Given the description of an element on the screen output the (x, y) to click on. 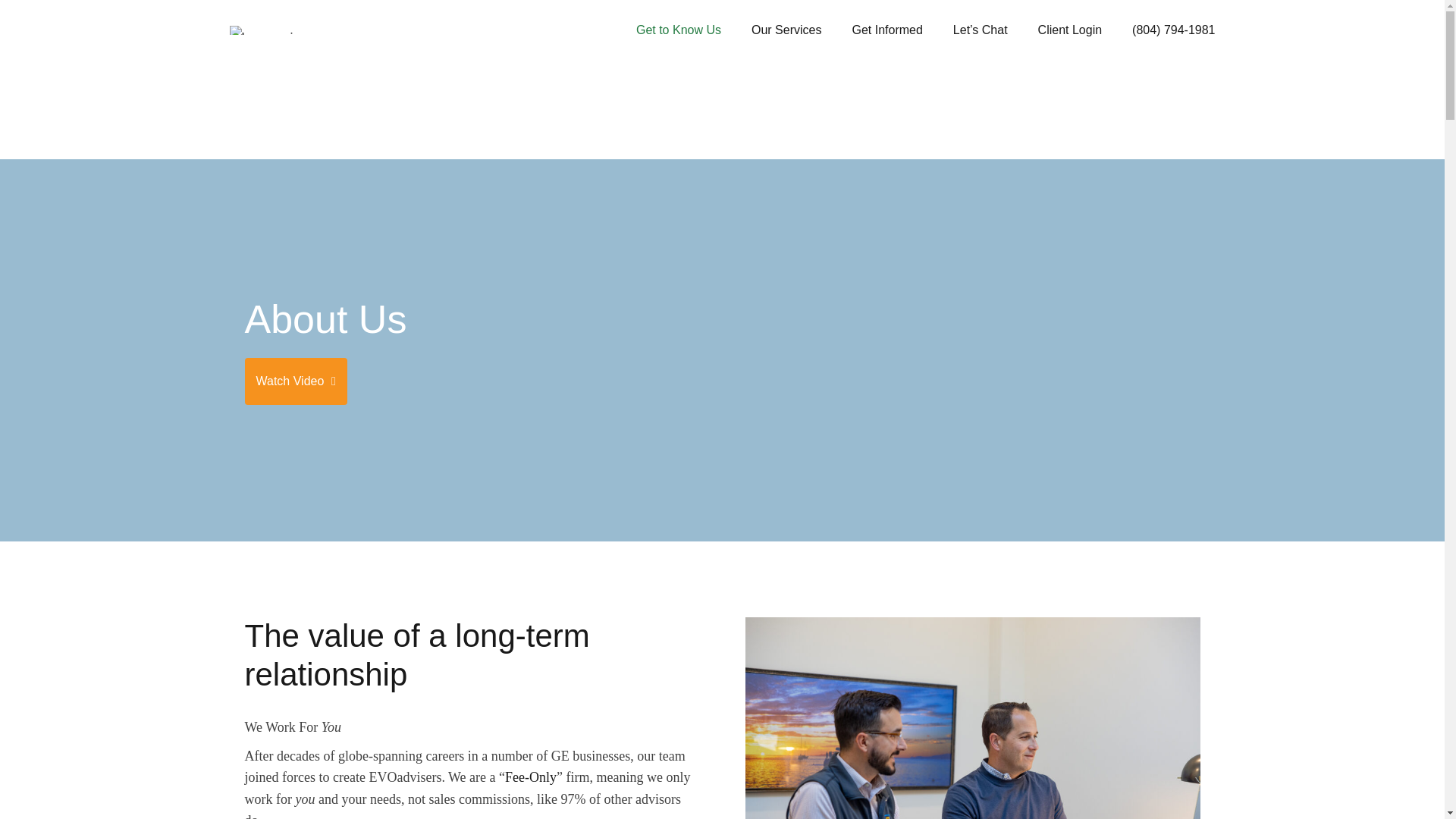
Get to Know Us (678, 30)
Get Informed (886, 30)
Our Services (786, 30)
Client Login (1070, 30)
